Given the description of an element on the screen output the (x, y) to click on. 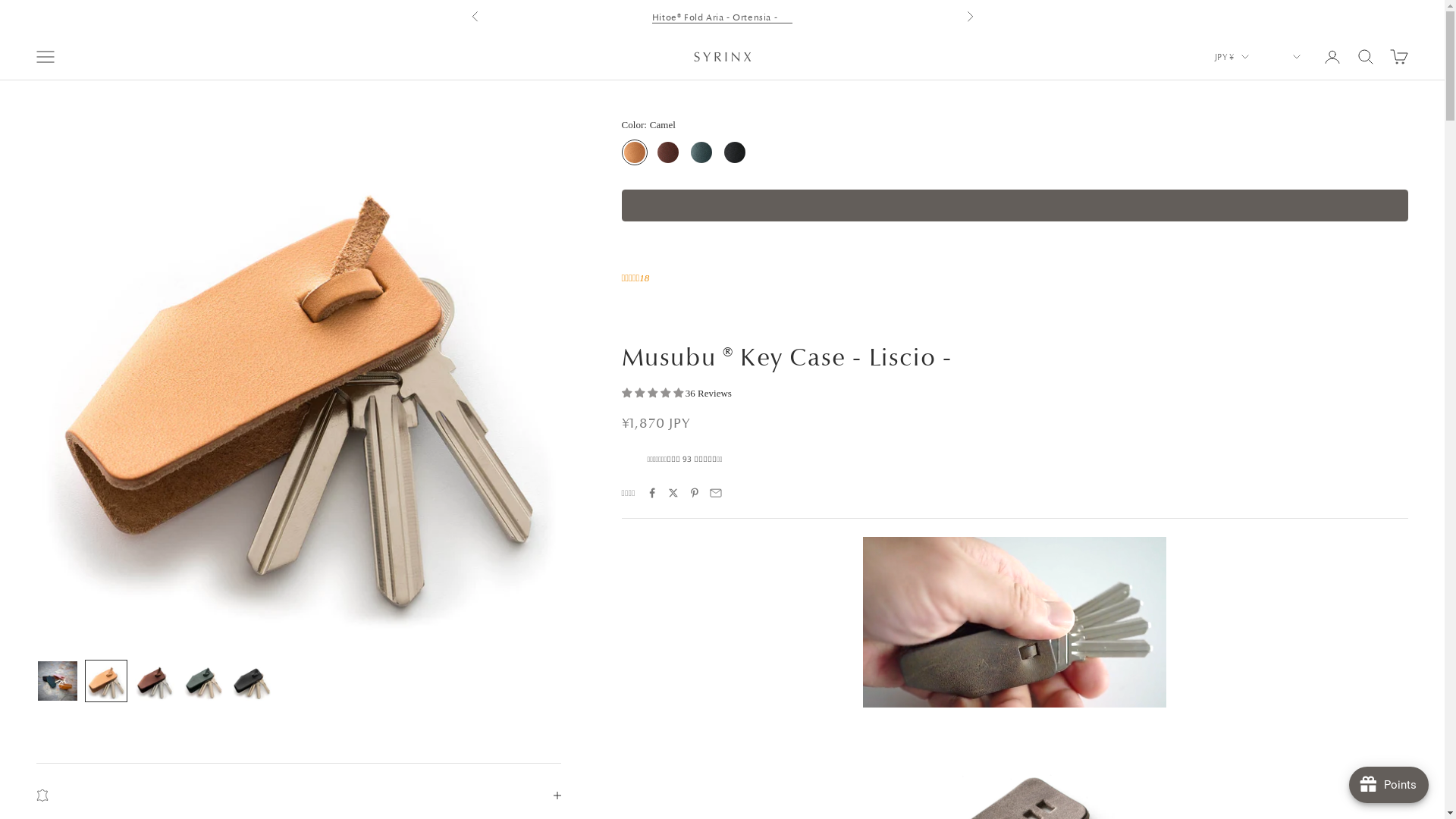
Points Element type: text (1388, 784)
Syrinx Element type: text (721, 56)
